Given the description of an element on the screen output the (x, y) to click on. 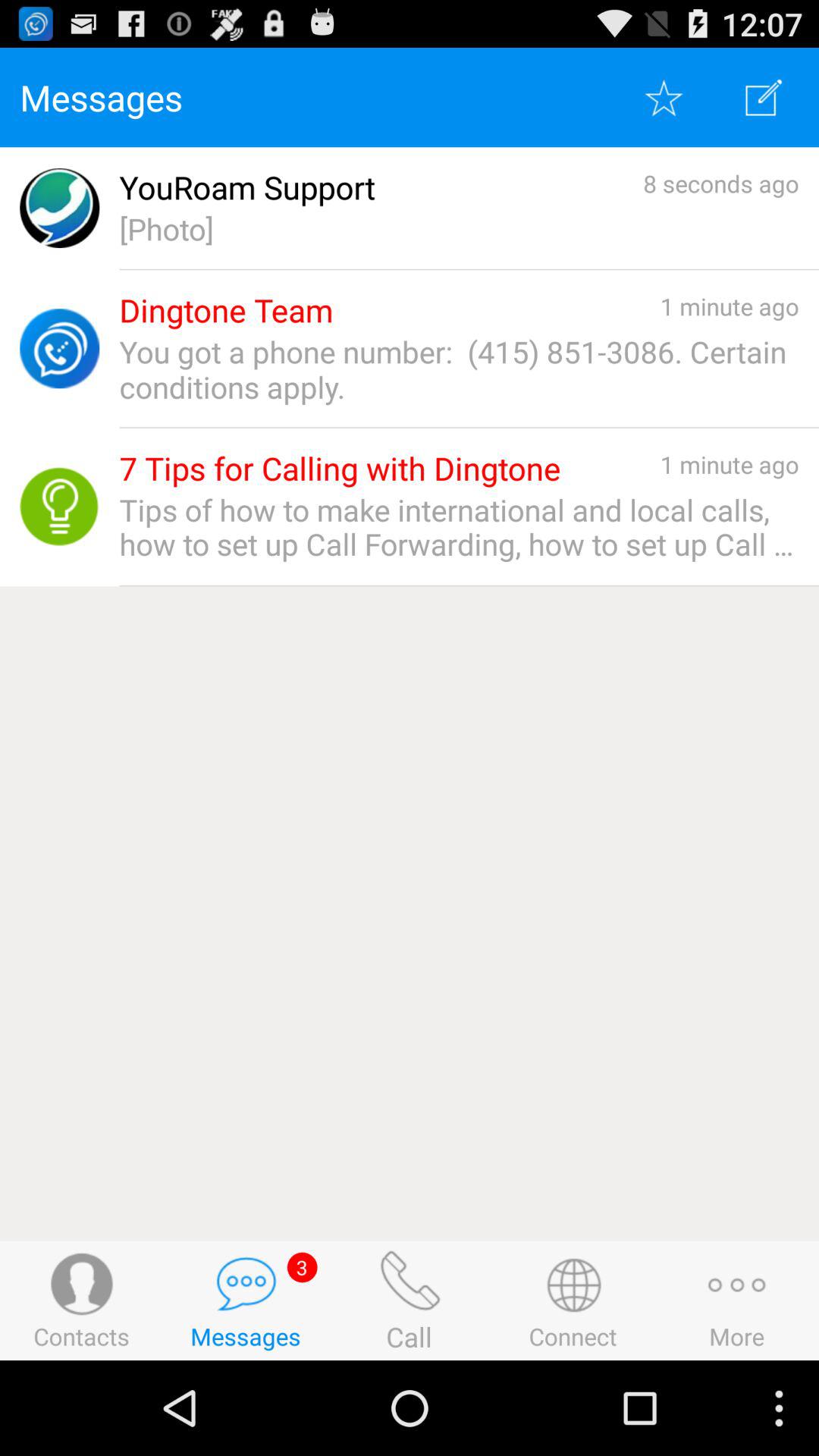
choose icon next to 8 seconds ago icon (247, 187)
